Given the description of an element on the screen output the (x, y) to click on. 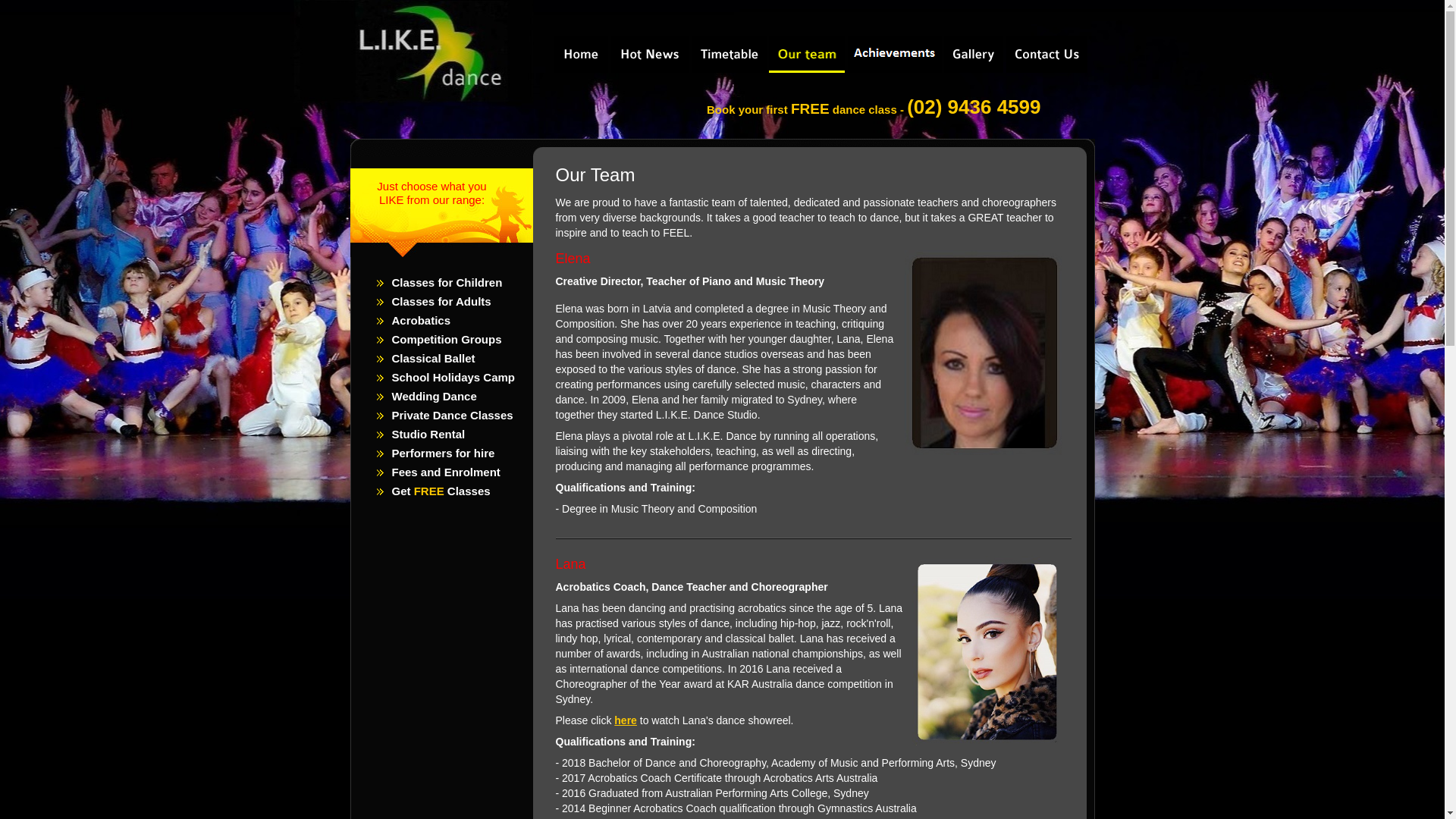
Competition Groups Element type: text (446, 338)
Wedding Dance Element type: text (433, 395)
here Element type: text (625, 720)
Get FREE Classes Element type: text (440, 490)
Fees and Enrolment Element type: text (445, 471)
Classes for Children Element type: text (446, 282)
Classes for Adults Element type: text (440, 300)
School Holidays Camp Element type: text (452, 376)
Studio Rental Element type: text (427, 433)
Performers for hire Element type: text (442, 452)
Classical Ballet Element type: text (432, 357)
Private Dance Classes Element type: text (451, 414)
Acrobatics Element type: text (420, 319)
